Given the description of an element on the screen output the (x, y) to click on. 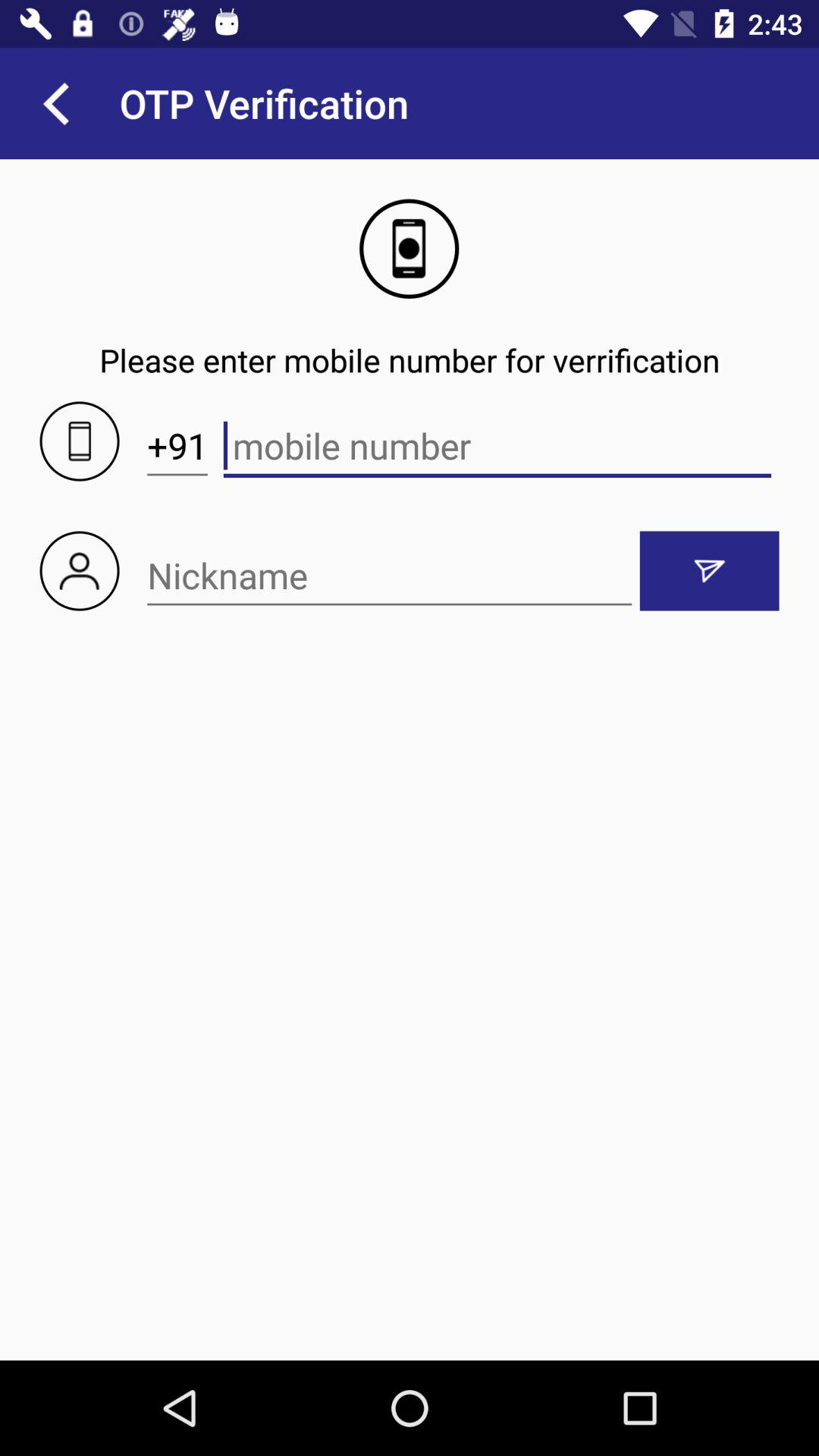
jump to +91 icon (177, 446)
